Given the description of an element on the screen output the (x, y) to click on. 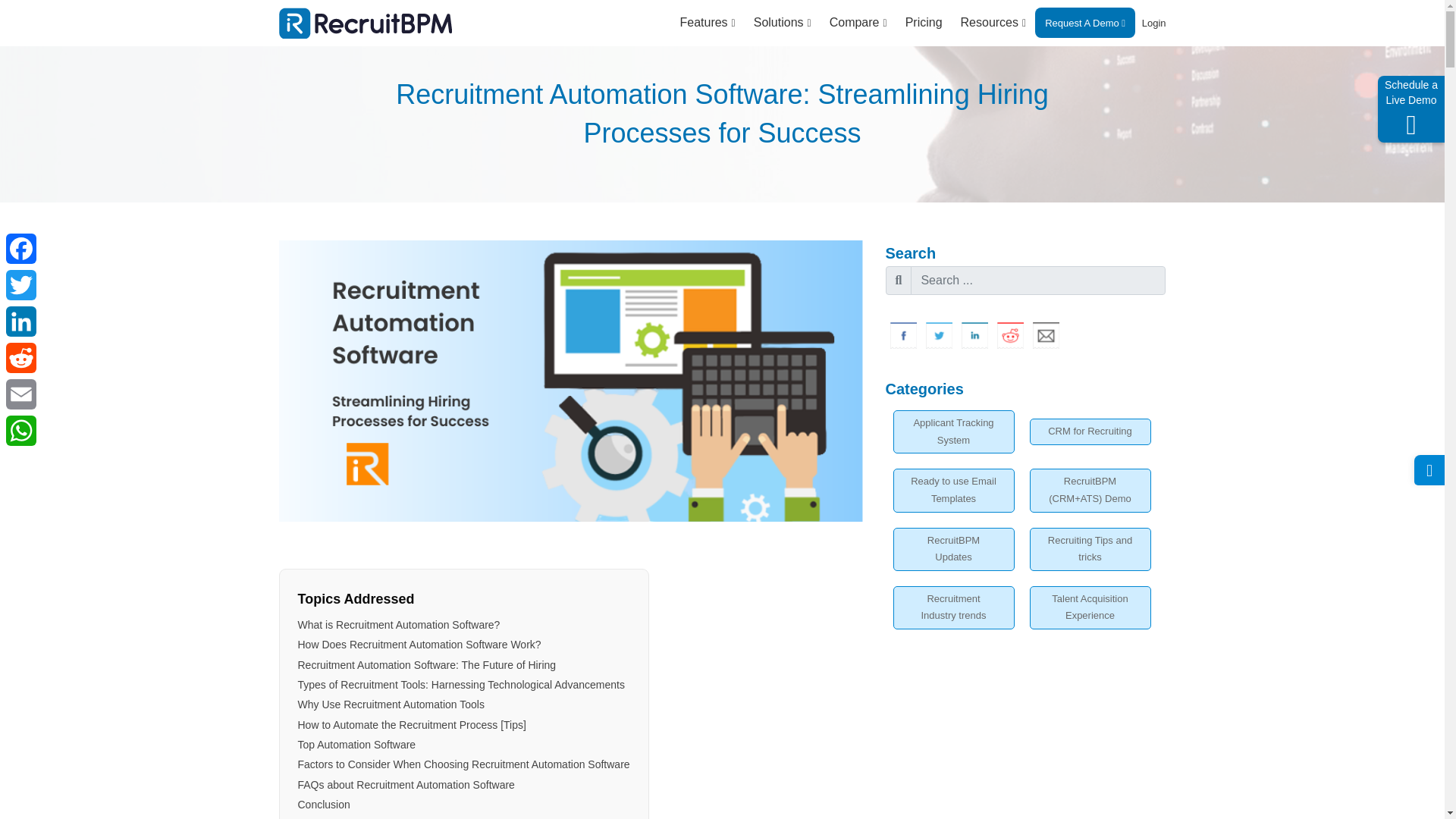
Facebook (20, 248)
Resources (993, 22)
WhatsApp (20, 430)
Email (1045, 334)
LinkedIn (974, 334)
Email (20, 393)
Reddit (1009, 334)
Solutions (782, 22)
Features (707, 22)
Compare (858, 22)
Reddit (20, 357)
LinkedIn (20, 321)
Twitter (20, 284)
Facebook (903, 334)
Twitter (938, 334)
